Given the description of an element on the screen output the (x, y) to click on. 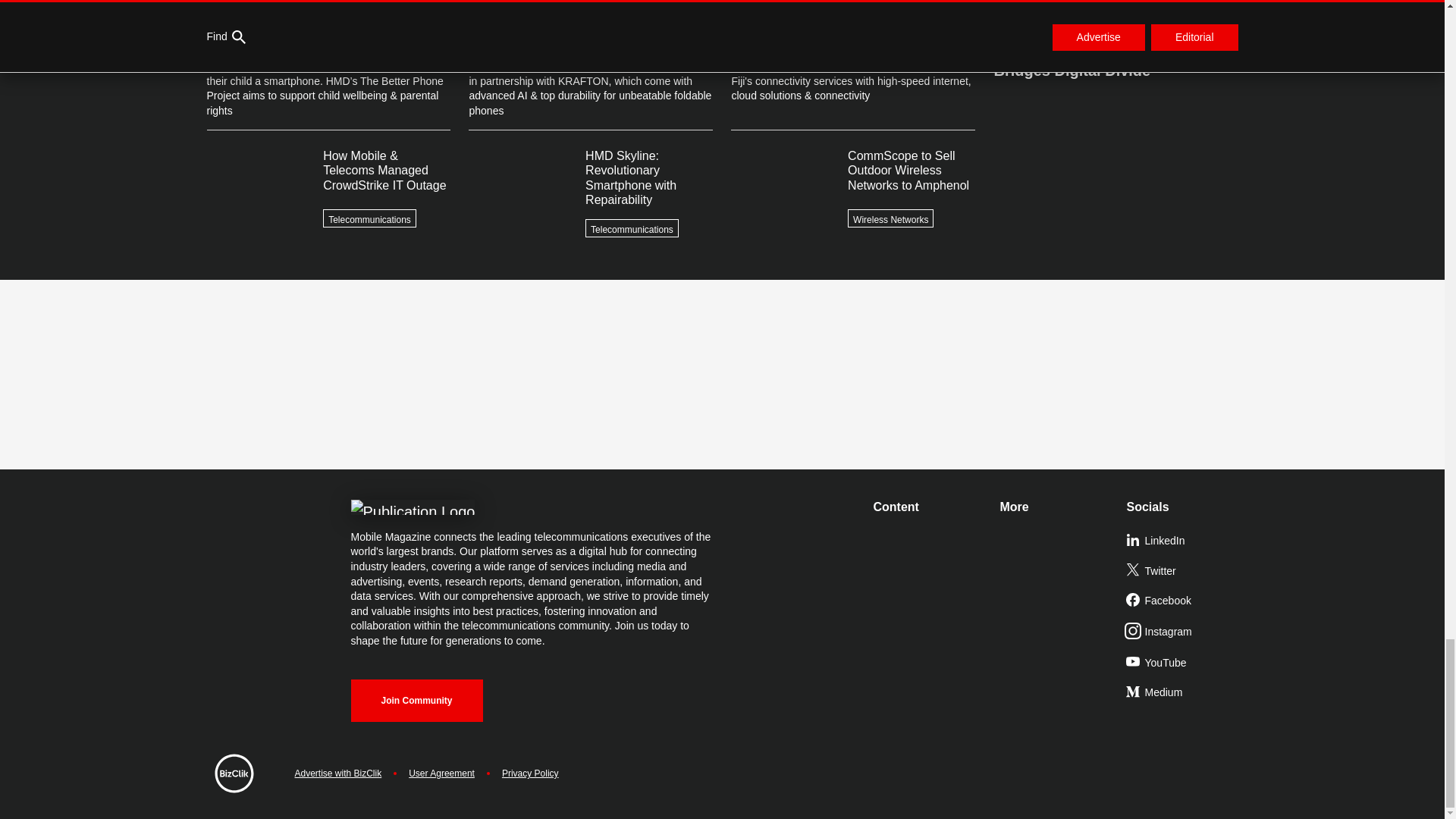
World Youth Skills Day: Vodafone Bridges Digital Divide (1114, 54)
